Given the description of an element on the screen output the (x, y) to click on. 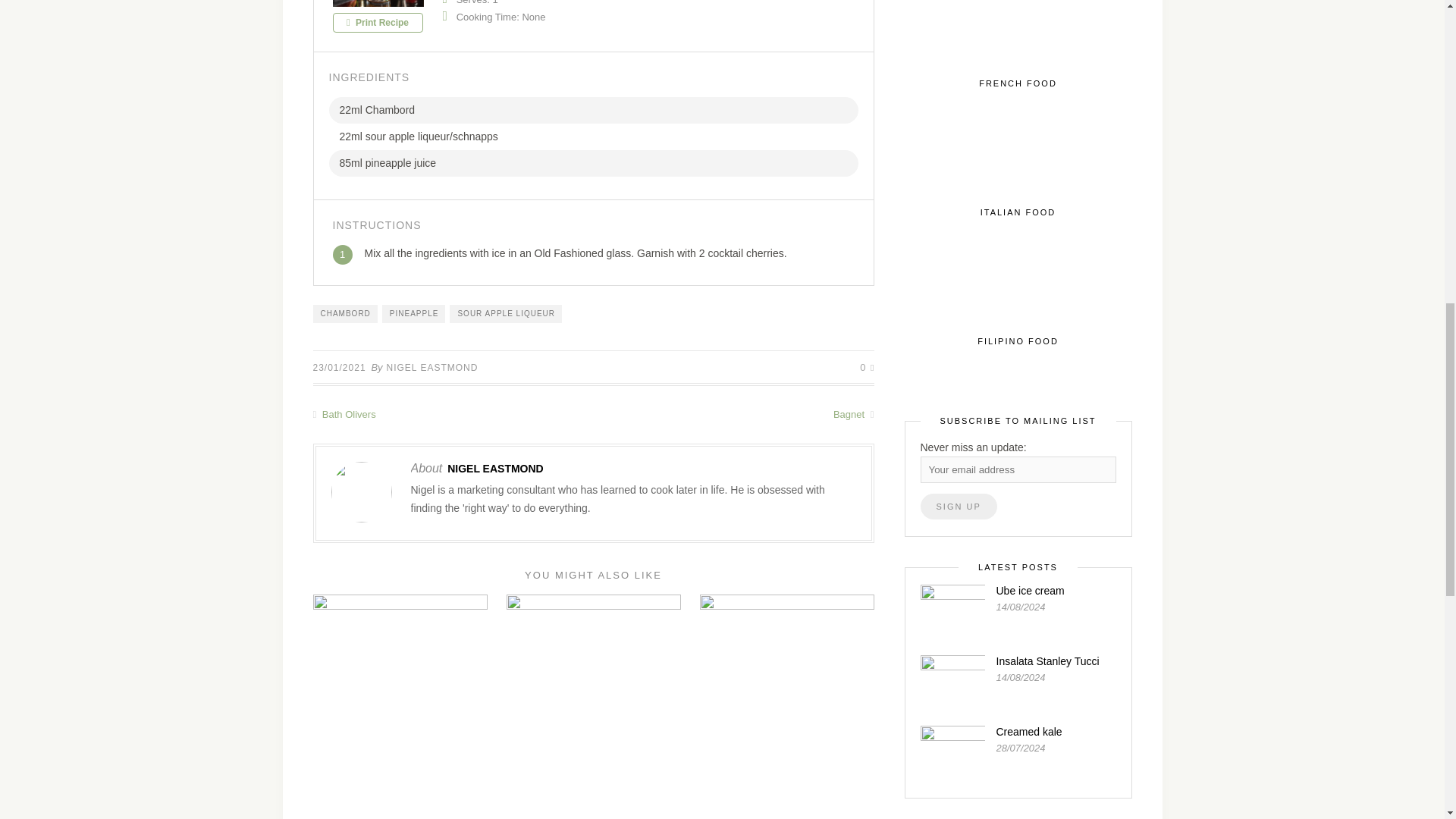
CHAMBORD (345, 313)
NIGEL EASTMOND (494, 468)
Bath Olivers (452, 414)
SOUR APPLE LIQUEUR (505, 313)
Posts by Nigel Eastmond (433, 367)
0 (866, 367)
Posts by Nigel Eastmond (494, 468)
Sign up (958, 506)
Bagnet (732, 414)
Print Recipe (376, 22)
